Given the description of an element on the screen output the (x, y) to click on. 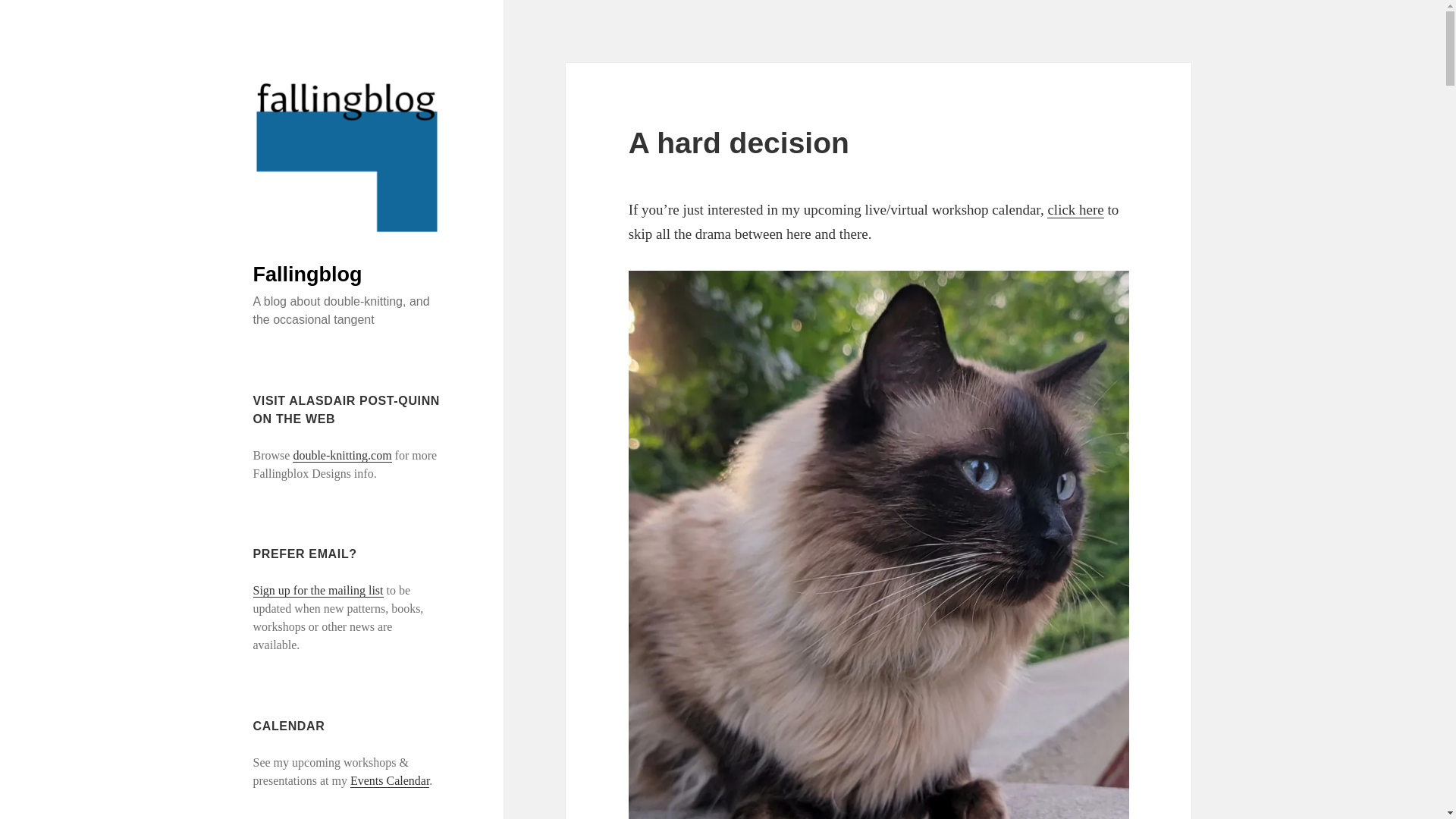
click here (1074, 209)
Events Calendar (389, 780)
Sign up for the mailing list (318, 590)
double-knitting.com (341, 455)
Fallingblog (307, 273)
